Given the description of an element on the screen output the (x, y) to click on. 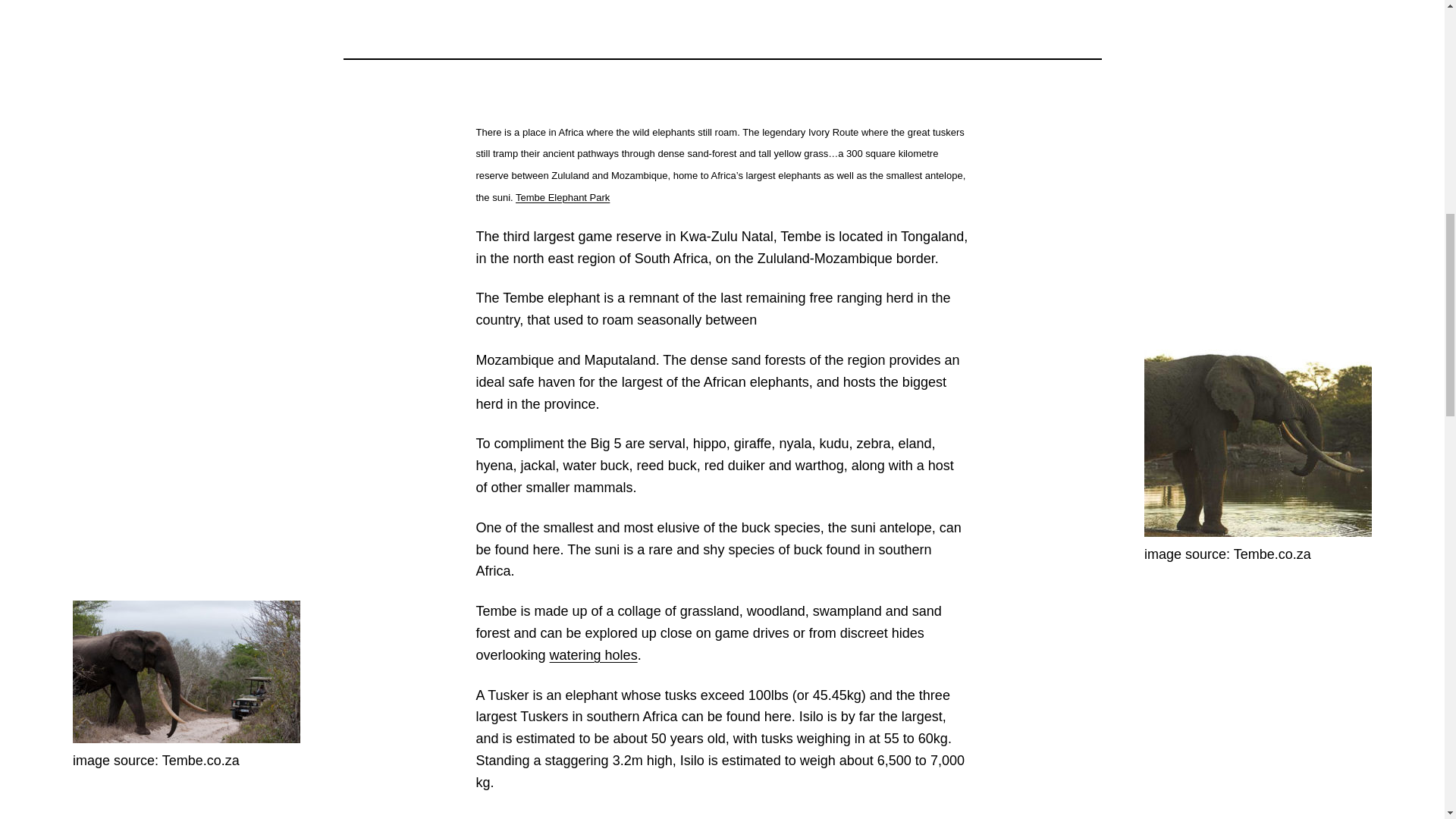
watering holes (593, 654)
Tembe Elephant Park (562, 197)
Tembe National Elephant Park (562, 197)
Isilo - Tembe's Tusker (185, 671)
see Tembe Web Cam (593, 654)
Isilo - Tembe's Tusker (1257, 443)
